Given the description of an element on the screen output the (x, y) to click on. 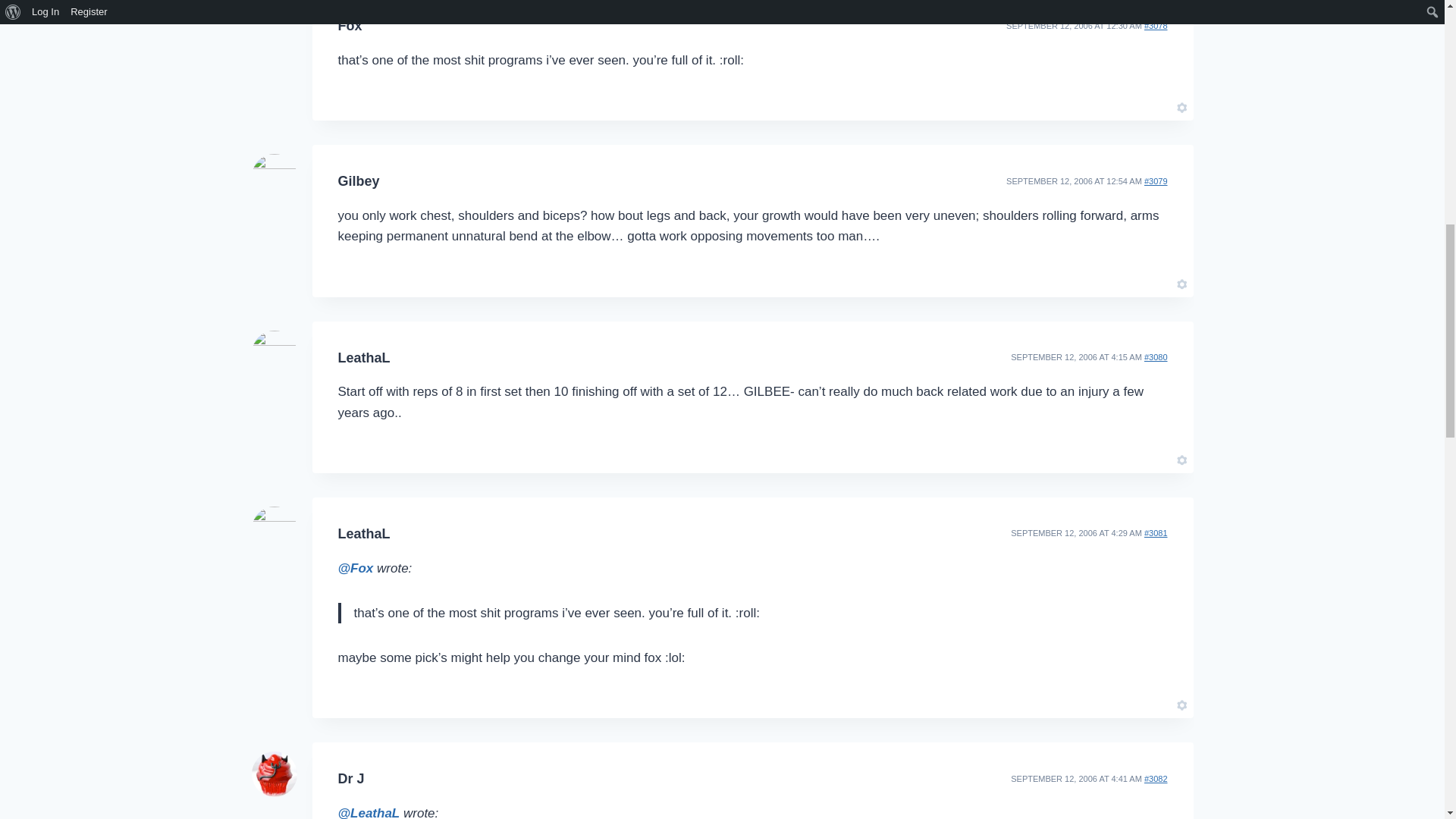
Reply To: Proven size and strength workout! (1155, 777)
Dr J (351, 778)
View LeathaL's profile (363, 357)
Reply To: Proven size and strength workout! (1155, 532)
Reply To: Proven size and strength workout! (1155, 356)
LeathaL (363, 533)
LeathaL (363, 357)
Gilbey (358, 181)
View Fox's profile (349, 25)
Reply To: Proven size and strength workout! (1155, 25)
